Given the description of an element on the screen output the (x, y) to click on. 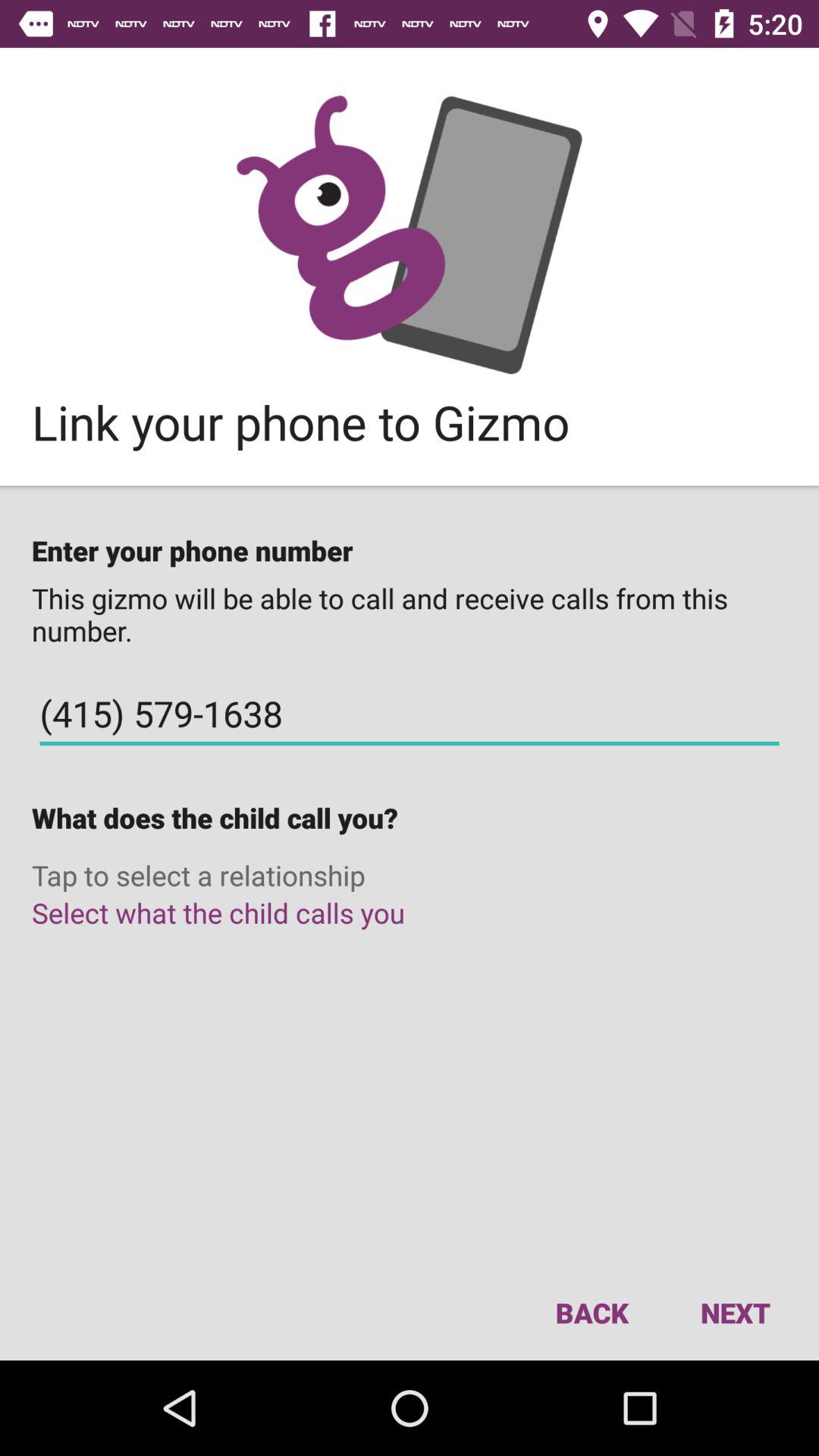
launch the item below the this gizmo will item (409, 714)
